Given the description of an element on the screen output the (x, y) to click on. 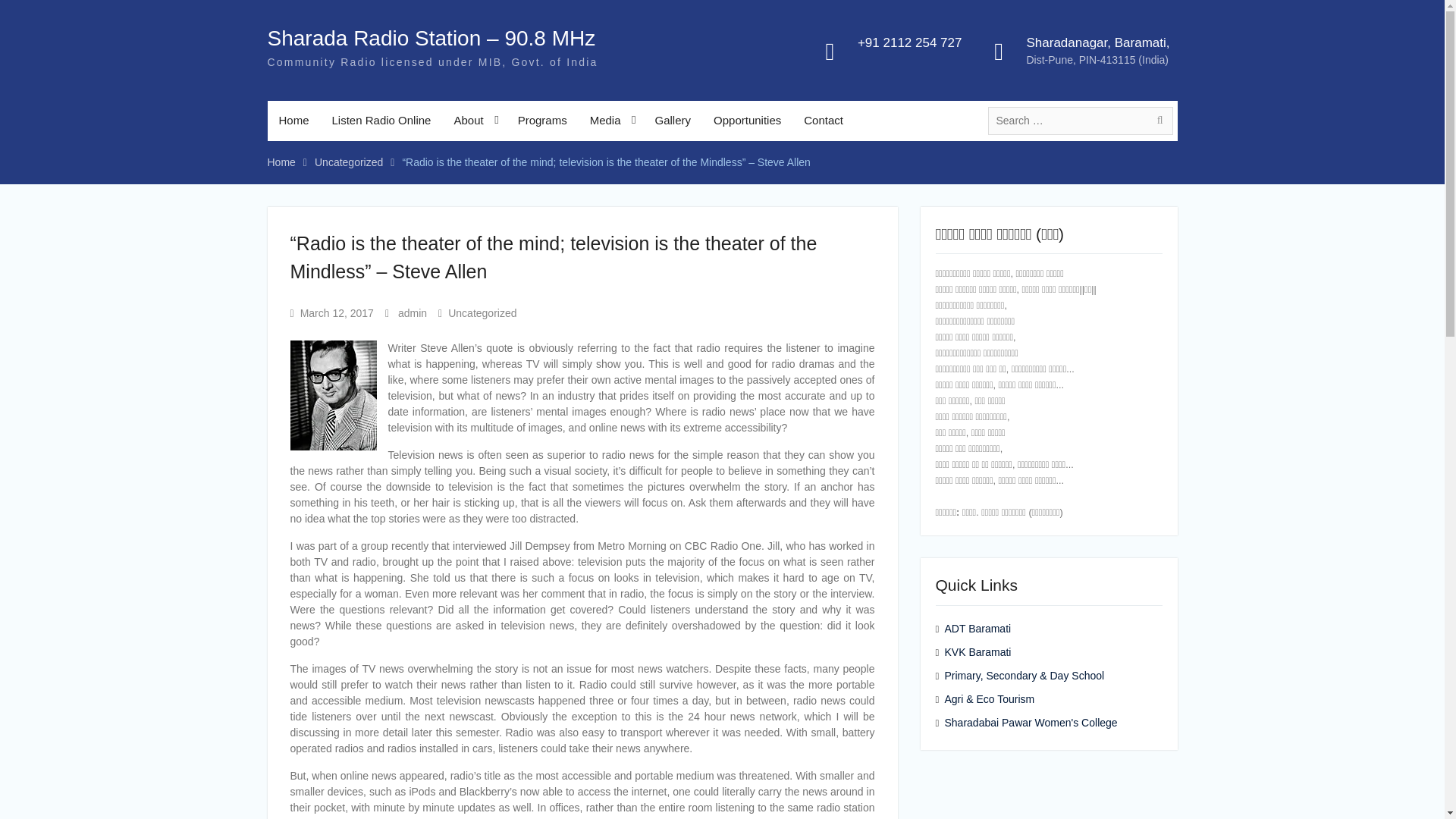
About (473, 120)
Media (610, 120)
Programs (542, 120)
Home (293, 120)
Listen Radio Online (381, 120)
